Given the description of an element on the screen output the (x, y) to click on. 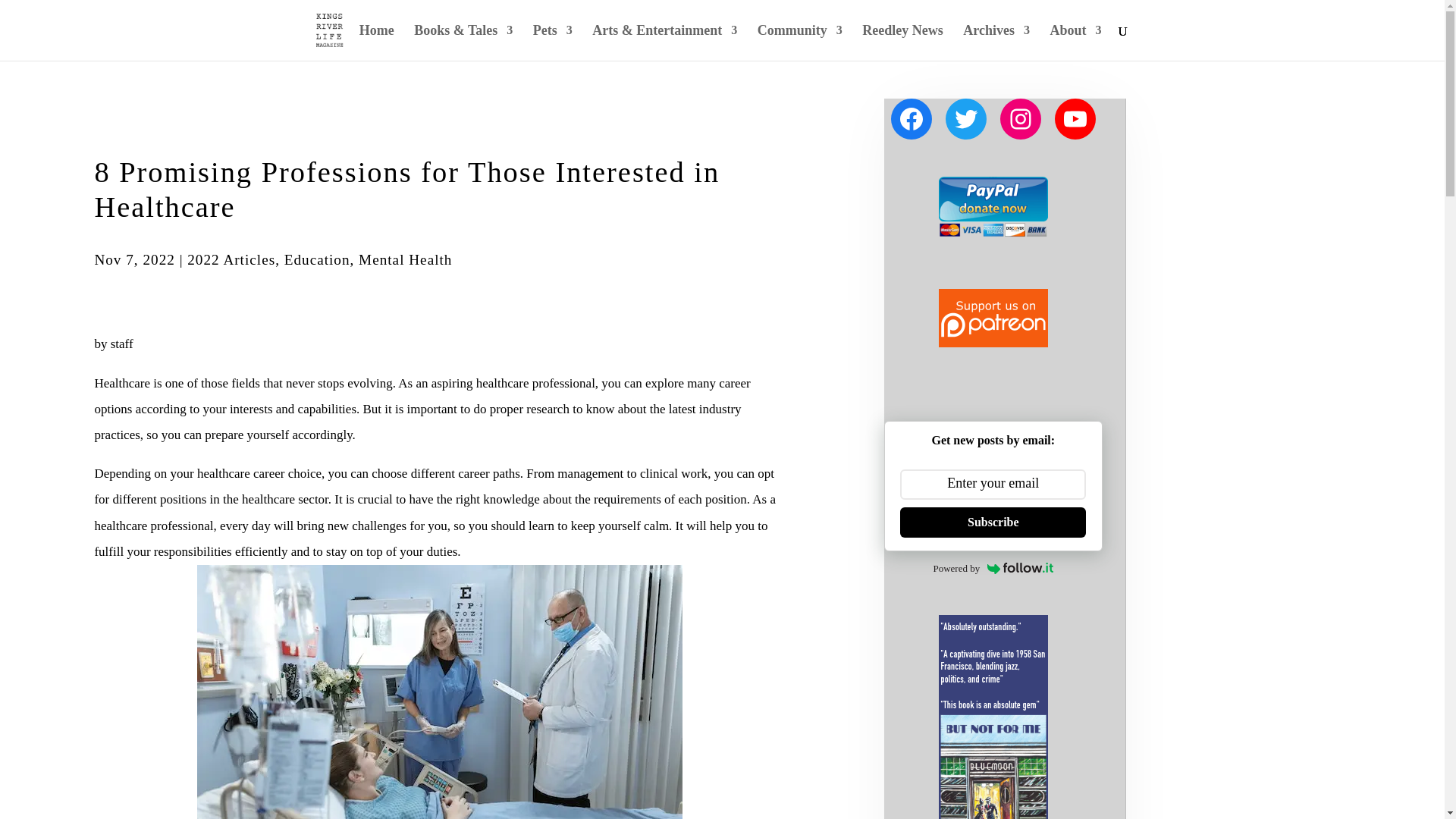
Community (800, 42)
Reedley News (901, 42)
Archives (995, 42)
Home (376, 42)
Pets (552, 42)
